Given the description of an element on the screen output the (x, y) to click on. 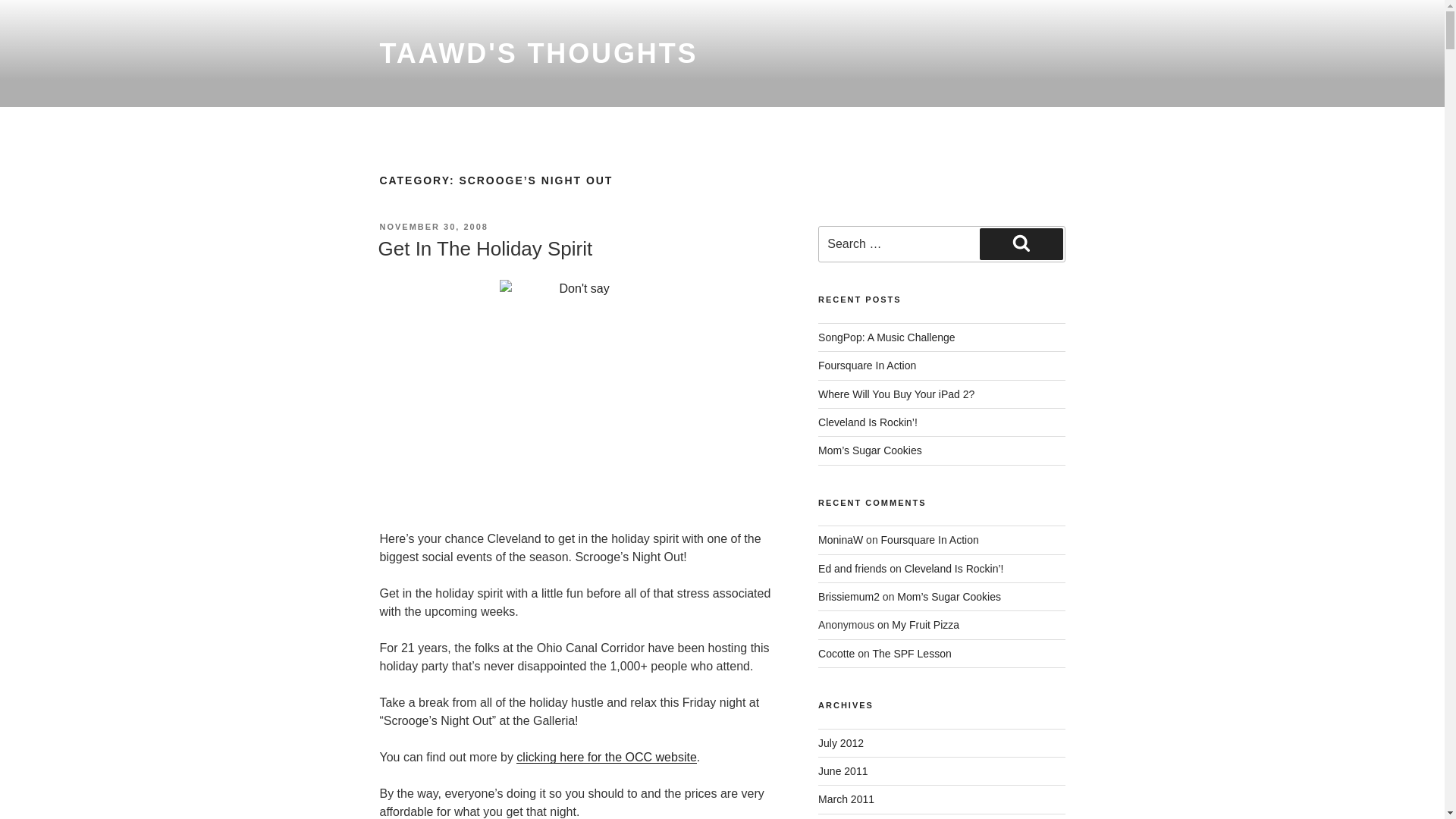
Brissiemum2 (848, 596)
Foursquare In Action (929, 539)
My Fruit Pizza (925, 624)
MoninaW (840, 539)
March 2011 (846, 799)
Cocotte (836, 653)
July 2012 (840, 743)
Foursquare In Action (866, 365)
Get In The Holiday Spirit (484, 248)
Ed and friends (852, 568)
Where Will You Buy Your iPad 2? (896, 394)
clicking here for the OCC website (605, 757)
SongPop: A Music Challenge (886, 337)
NOVEMBER 30, 2008 (432, 225)
June 2011 (842, 770)
